Given the description of an element on the screen output the (x, y) to click on. 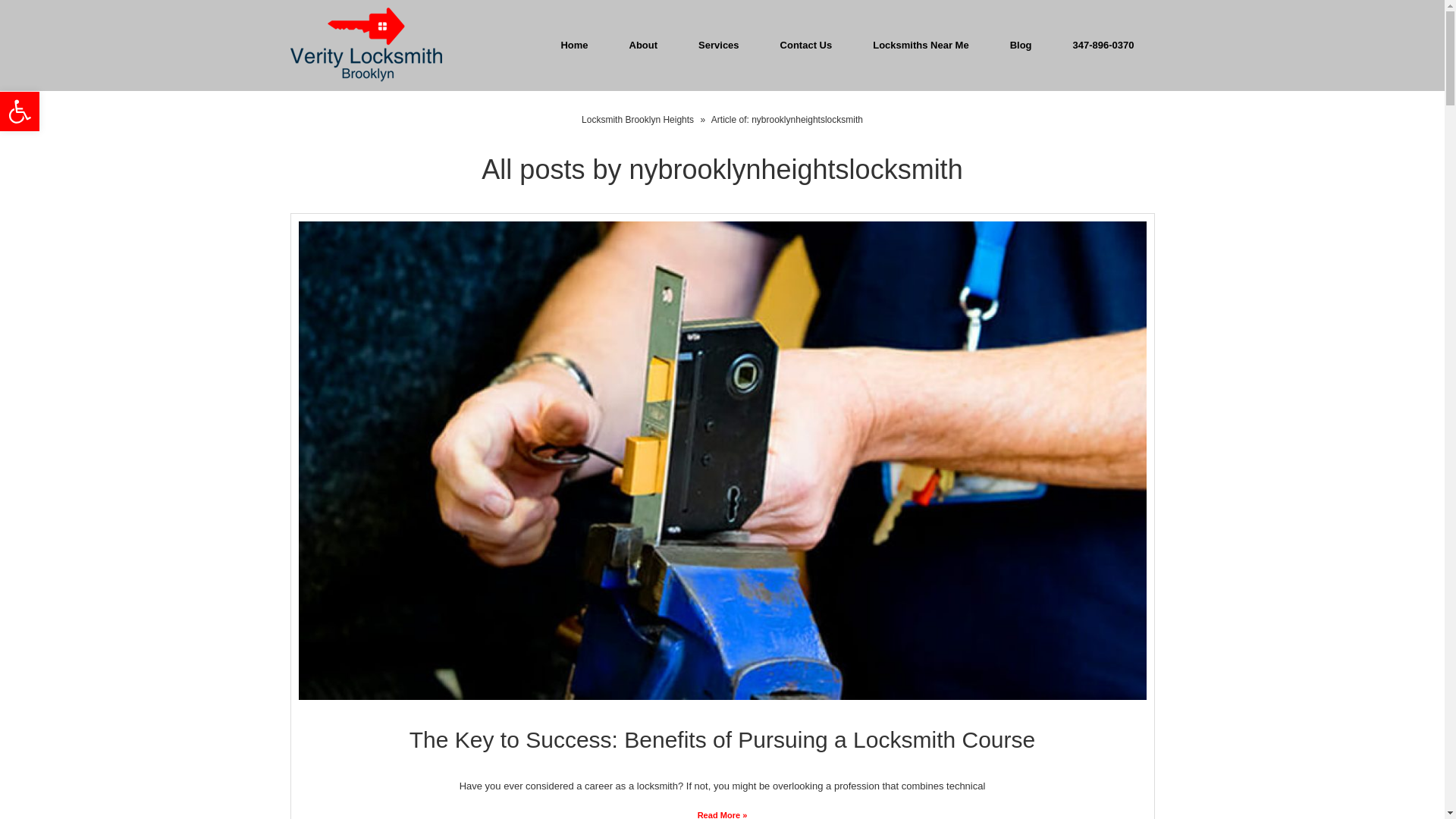
The Key to Success: Benefits of Pursuing a Locksmith Course (19, 111)
Services (19, 111)
Locksmiths Near Me (719, 45)
The Key to Success: Benefits of Pursuing a Locksmith Course (919, 45)
Locksmith Brooklyn Heights (722, 739)
347-896-0370 (637, 119)
Accessibility Tools (1103, 45)
Contact Us (19, 111)
